Given the description of an element on the screen output the (x, y) to click on. 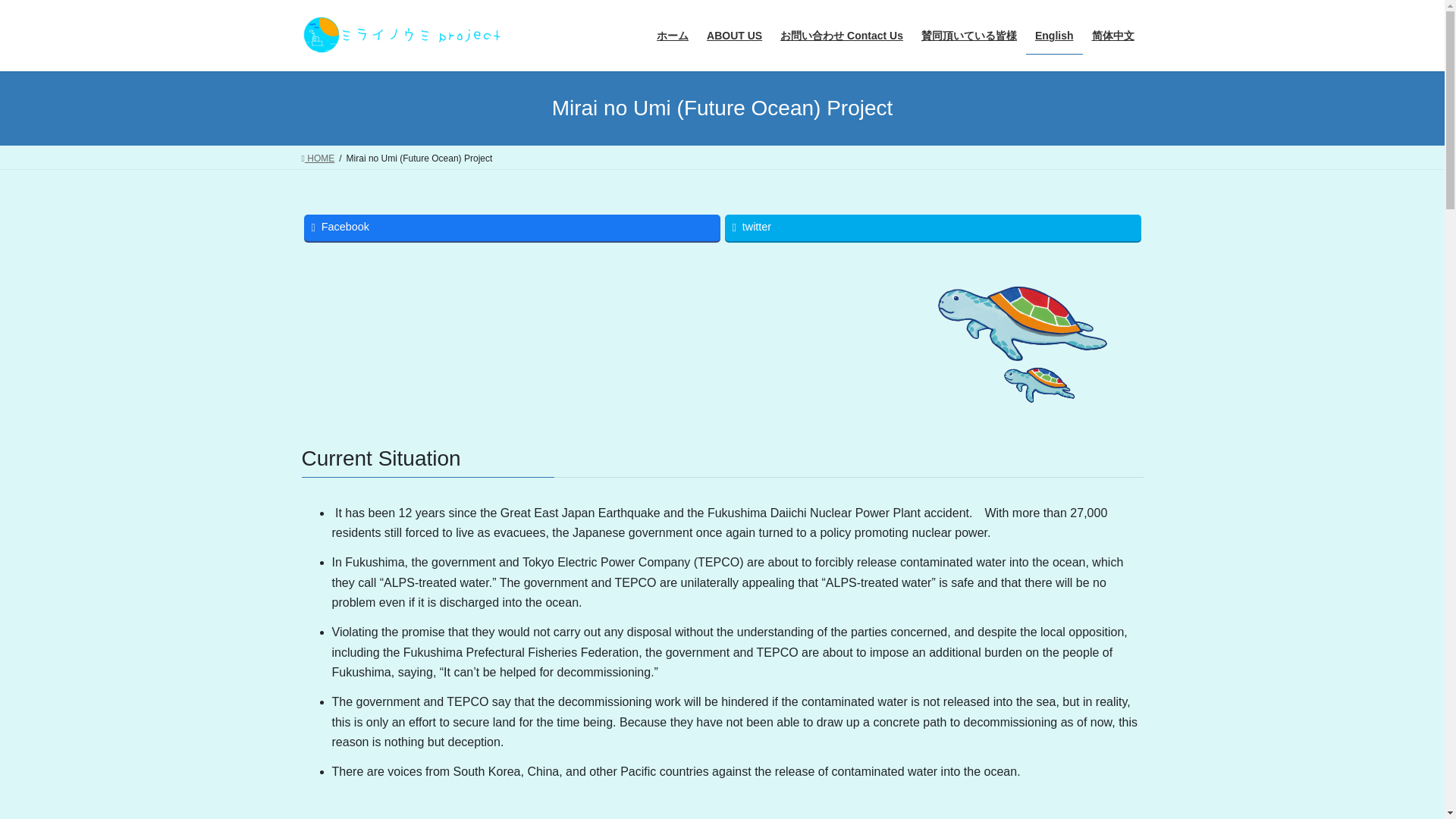
HOME (317, 157)
twitter (933, 227)
English (1054, 36)
ABOUT US (734, 36)
Facebook (510, 227)
